Given the description of an element on the screen output the (x, y) to click on. 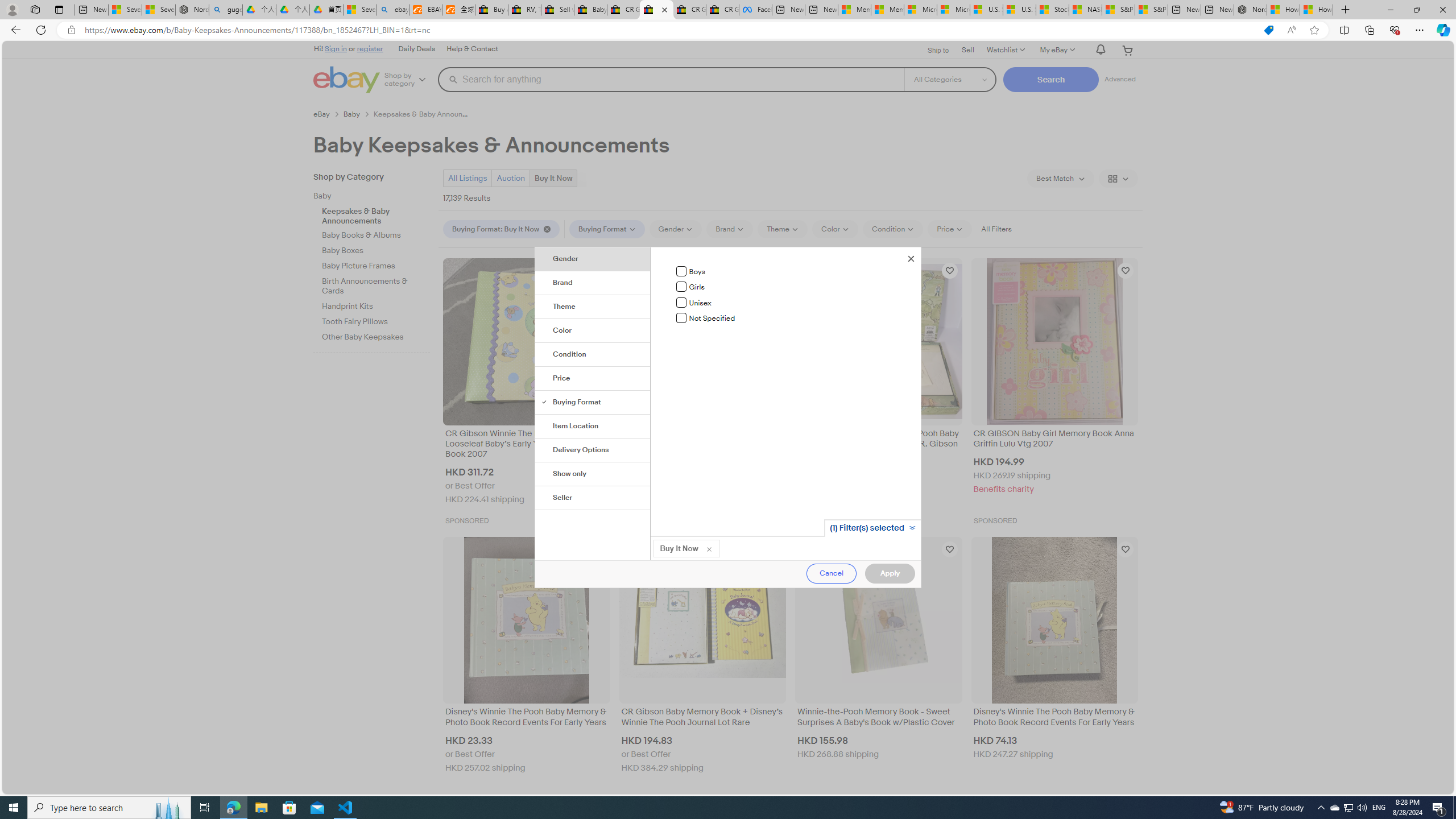
Price (592, 378)
Boys (681, 271)
Delivery Options (592, 450)
Unisex (681, 301)
